Given the description of an element on the screen output the (x, y) to click on. 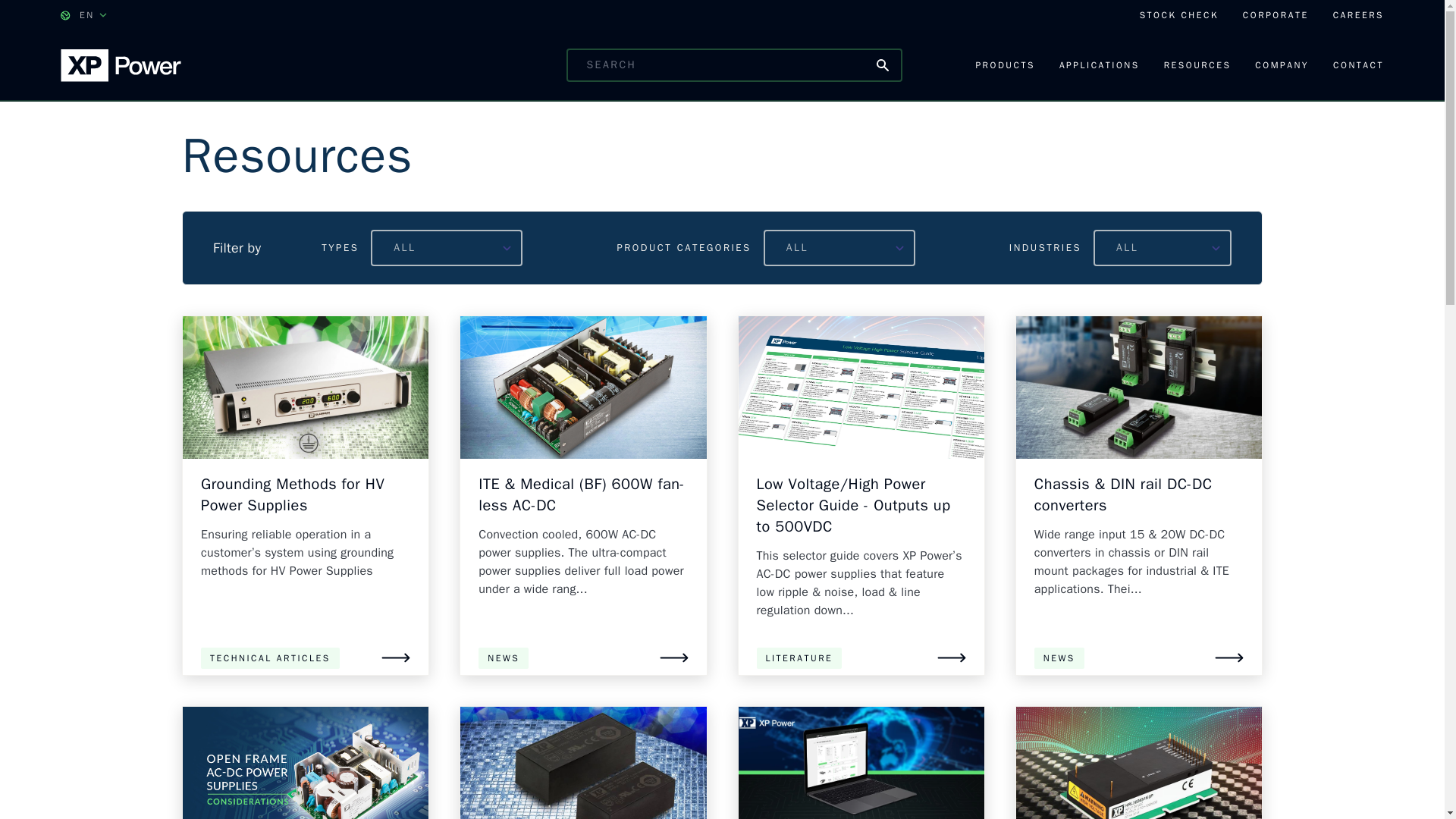
CORPORATE (1275, 15)
CAREERS (1358, 15)
STOCK CHECK (1179, 15)
XP Power (120, 64)
